Given the description of an element on the screen output the (x, y) to click on. 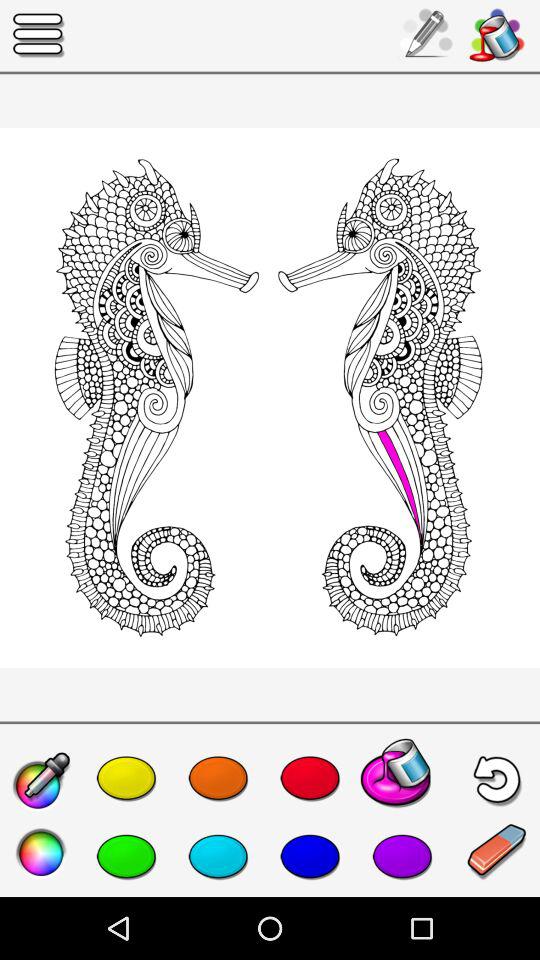
tap the icon at the top left corner (39, 35)
